Given the description of an element on the screen output the (x, y) to click on. 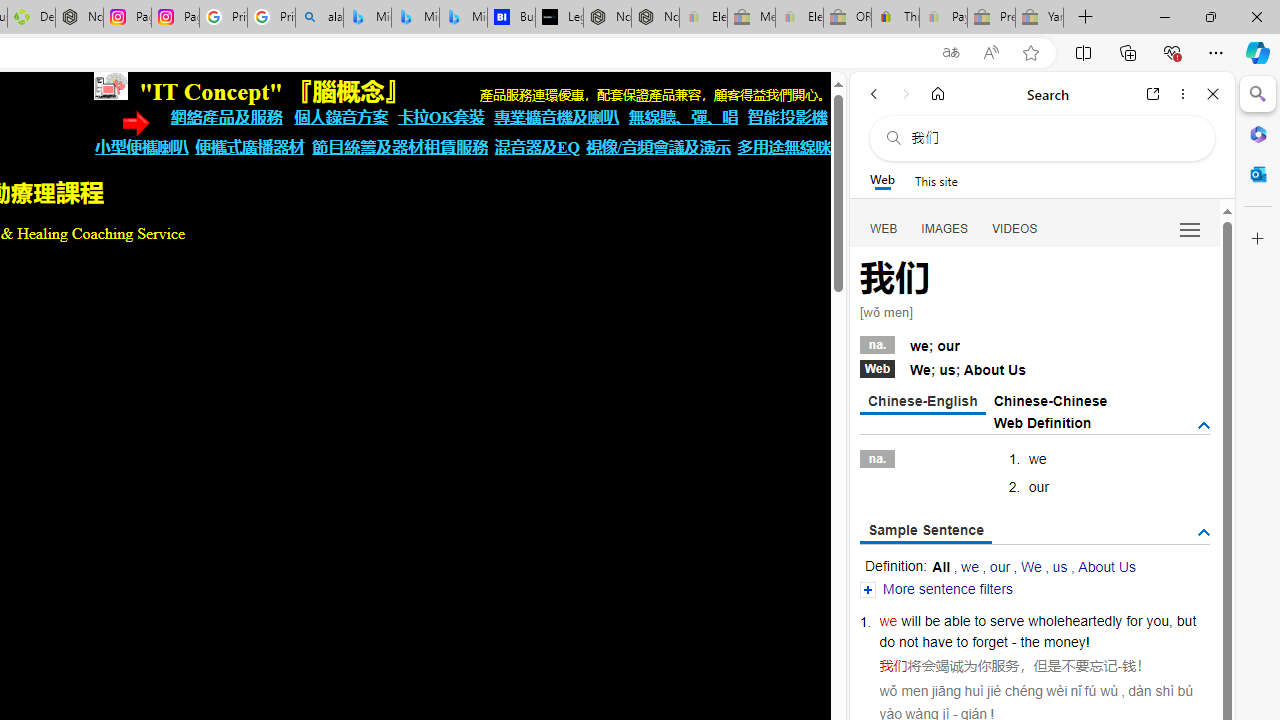
This site scope (936, 180)
Web Definition (1042, 422)
Search Filter, WEB (884, 228)
To get missing image descriptions, open the context menu. (110, 86)
Microsoft Bing Travel - Flights from Hong Kong to Bangkok (367, 17)
VIDEOS (1015, 228)
we (888, 620)
